Given the description of an element on the screen output the (x, y) to click on. 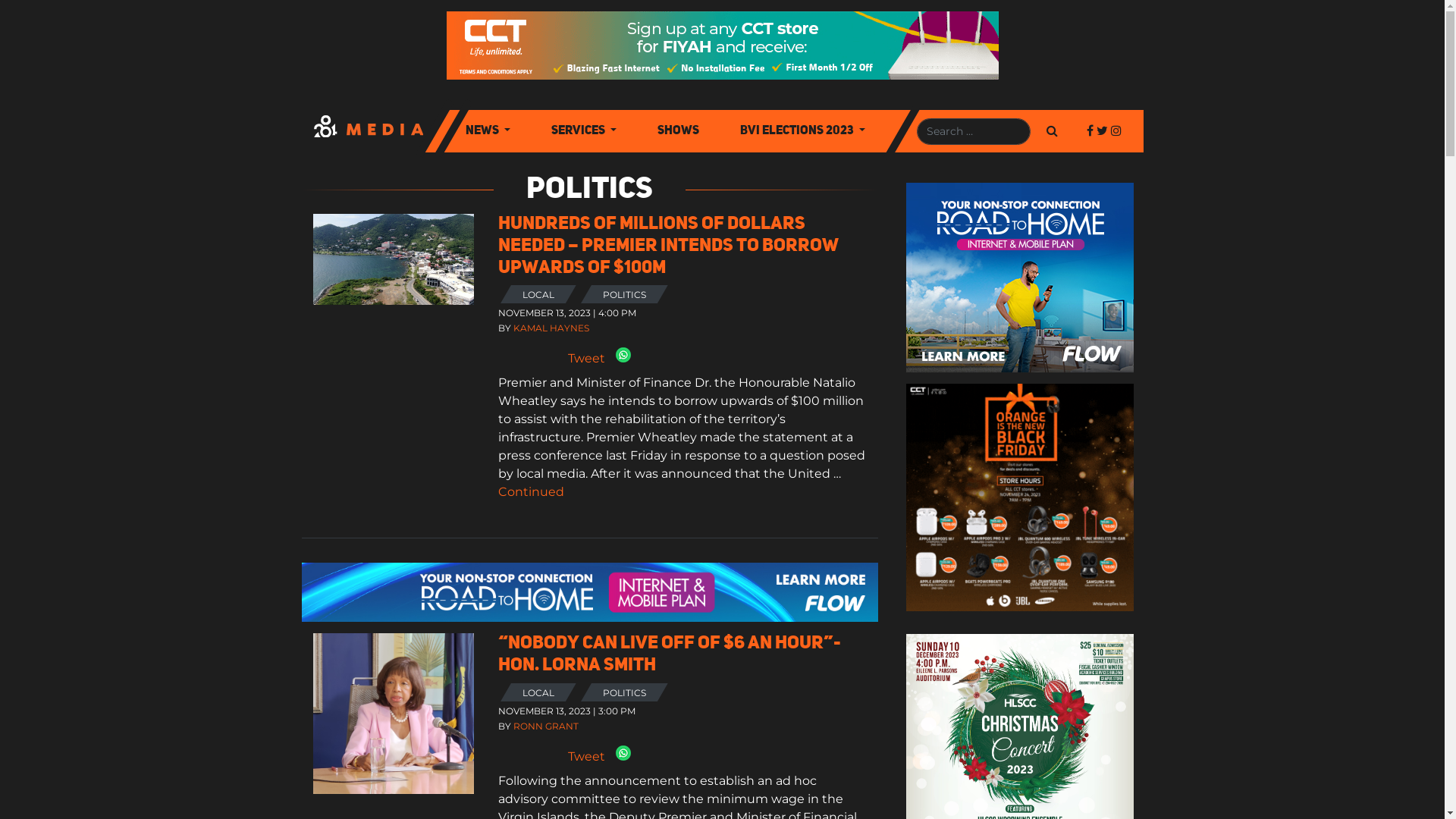
POLITICS Element type: text (624, 294)
KAMAL HAYNES Element type: text (551, 327)
SERVICES Element type: text (583, 131)
RONN GRANT Element type: text (545, 725)
Search Element type: text (1051, 130)
Tweet Element type: text (586, 756)
284 MEDIA &#8211; NEWS FROM THE BVI Element type: text (368, 131)
Tweet Element type: text (586, 358)
LOCAL Element type: text (538, 692)
BVI ELECTIONS 2023 Element type: text (802, 131)
POLITICS Element type: text (624, 692)
SHOWS Element type: text (678, 131)
Continued Element type: text (531, 491)
LOCAL Element type: text (538, 294)
NEWS Element type: text (487, 131)
